Given the description of an element on the screen output the (x, y) to click on. 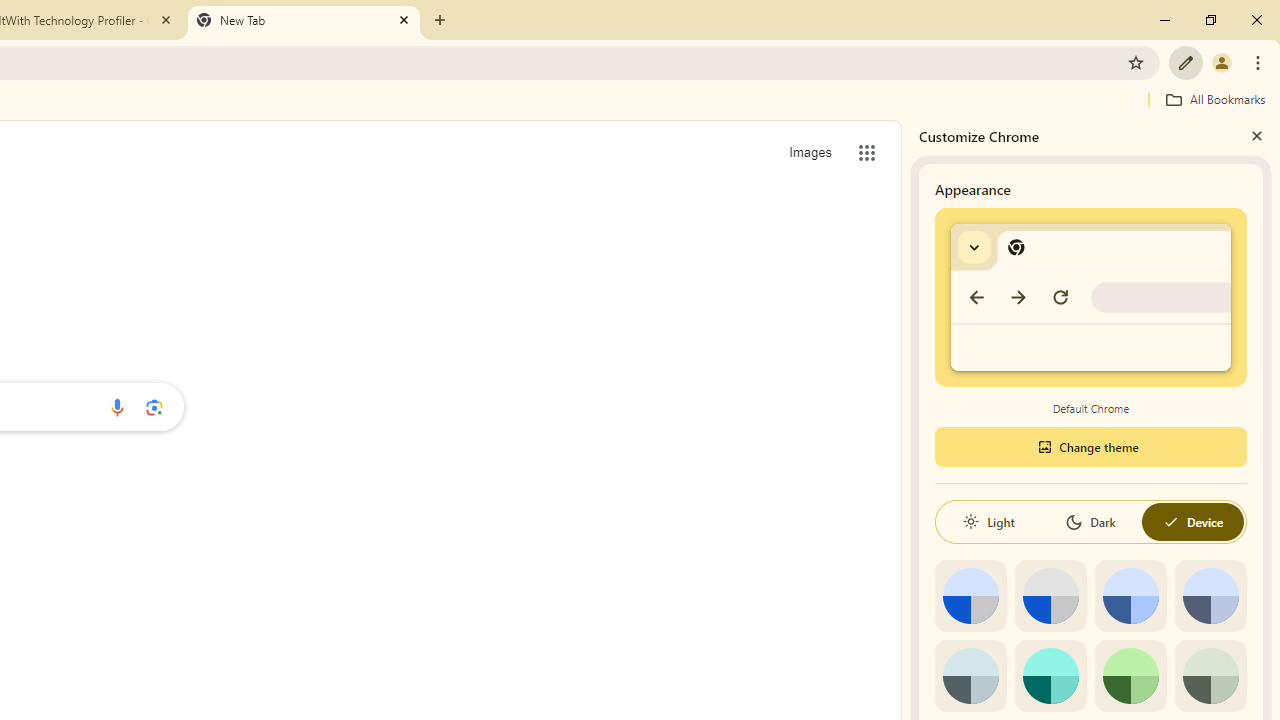
Device (1192, 521)
Cool grey (1210, 596)
AutomationID: baseSvg (1170, 521)
Default Chrome (1091, 296)
Change theme (1090, 446)
Blue (1130, 596)
Green (1130, 676)
Dark (1090, 521)
